Given the description of an element on the screen output the (x, y) to click on. 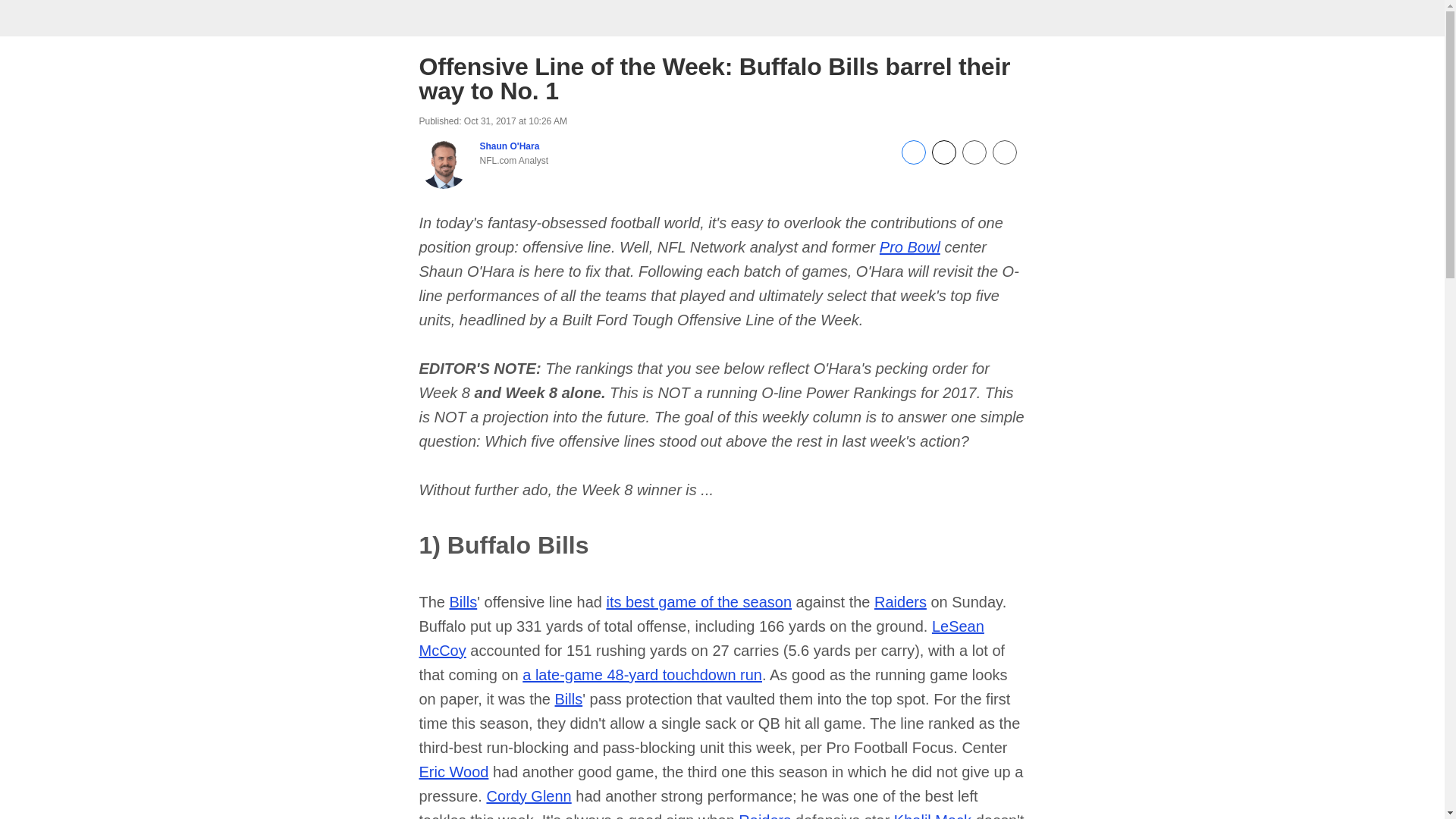
its best game of the season (698, 601)
Copy link (1003, 153)
Share on Twitter (943, 160)
Send email (972, 160)
Shaun O'Hara (508, 145)
Eric Wood (453, 771)
Share on Facebook (912, 160)
Khalil Mack (932, 815)
LeSean McCoy (701, 638)
Raiders (764, 815)
